Given the description of an element on the screen output the (x, y) to click on. 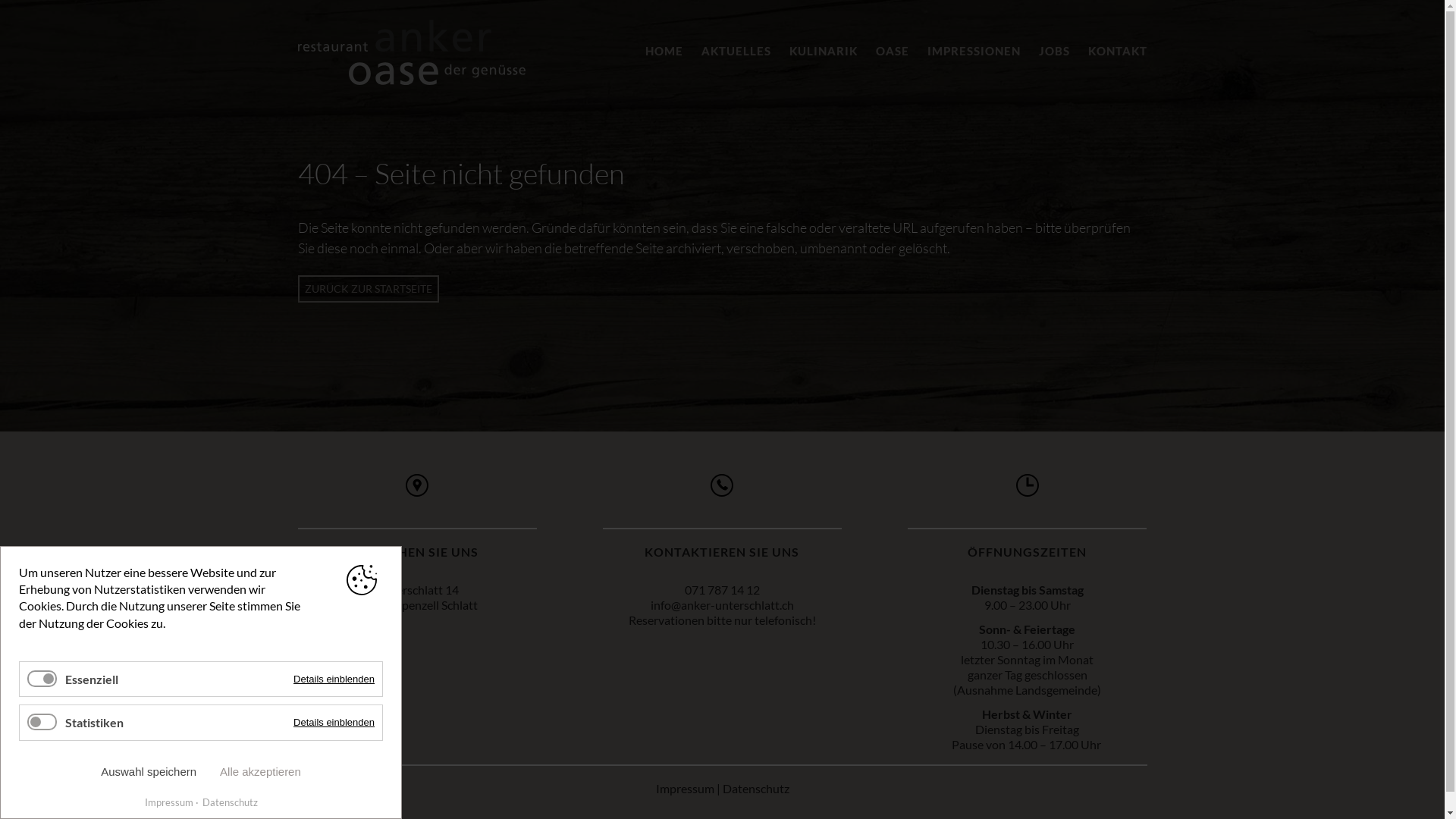
KONTAKT Element type: text (1116, 50)
Details einblenden Element type: text (333, 679)
Impressum Element type: text (684, 788)
Impressum Element type: text (168, 801)
Auswahl speichern Element type: text (148, 771)
IMPRESSIONEN Element type: text (972, 50)
OASE Element type: text (891, 50)
HOME Element type: text (663, 50)
Datenschutz Element type: text (754, 788)
KULINARIK Element type: text (822, 50)
JOBS Element type: text (1054, 50)
AKTUELLES Element type: text (735, 50)
Alle akzeptieren Element type: text (260, 771)
info@anker-unterschlatt.ch Element type: text (721, 604)
Details einblenden Element type: text (333, 722)
Datenschutz Element type: text (226, 801)
